Given the description of an element on the screen output the (x, y) to click on. 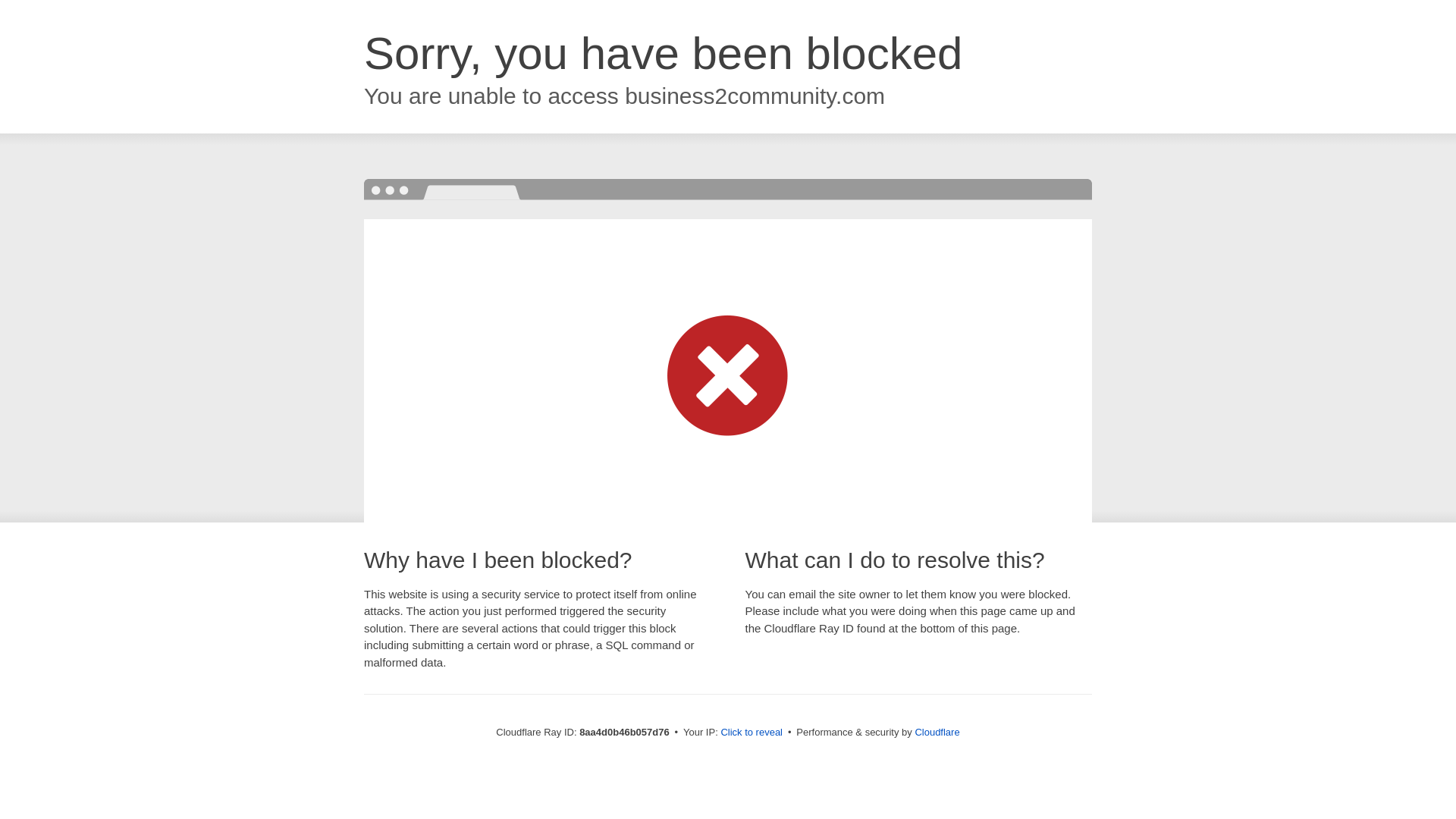
Cloudflare (936, 731)
Click to reveal (751, 732)
